Given the description of an element on the screen output the (x, y) to click on. 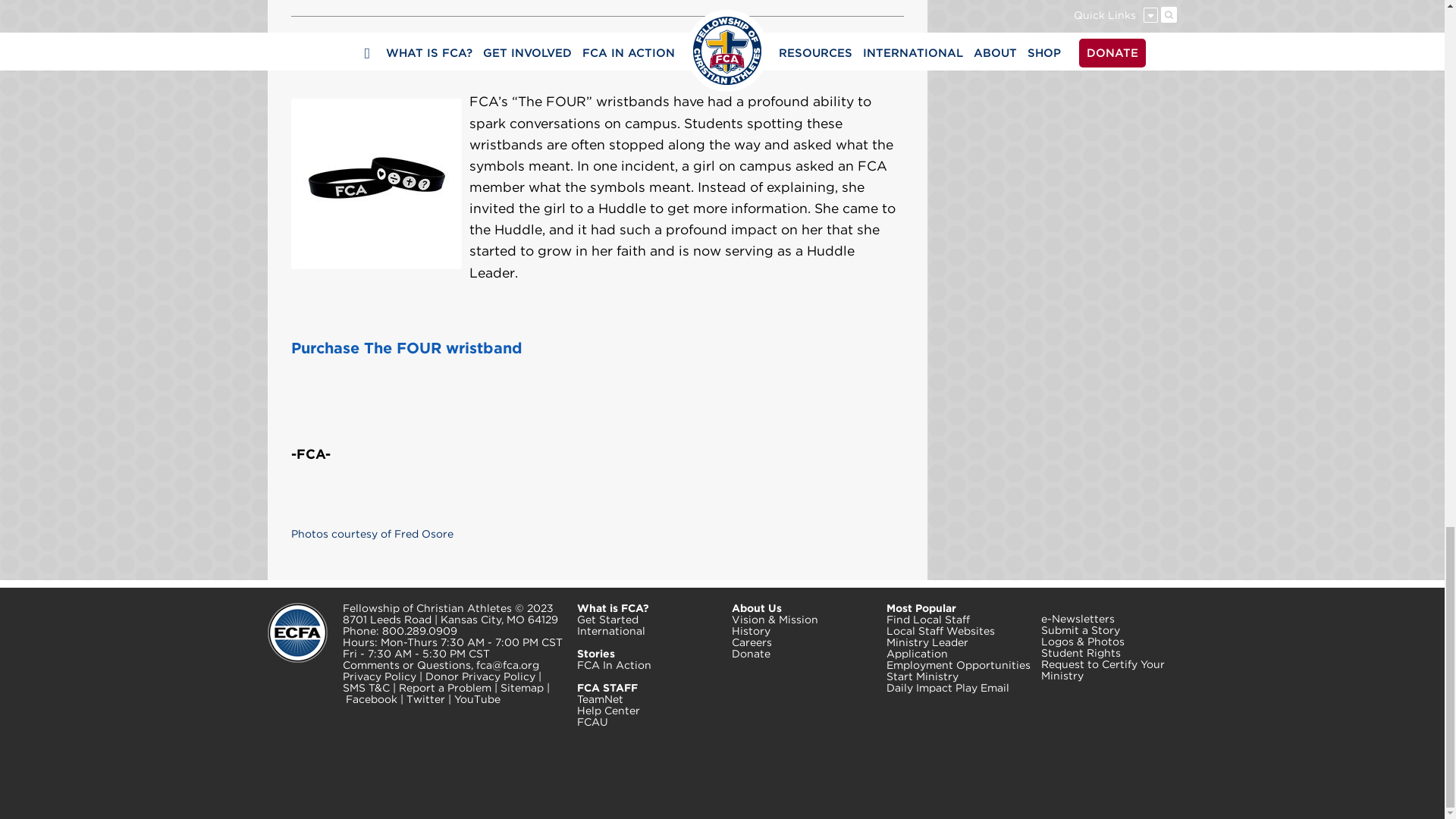
ECFALogo (296, 632)
